Given the description of an element on the screen output the (x, y) to click on. 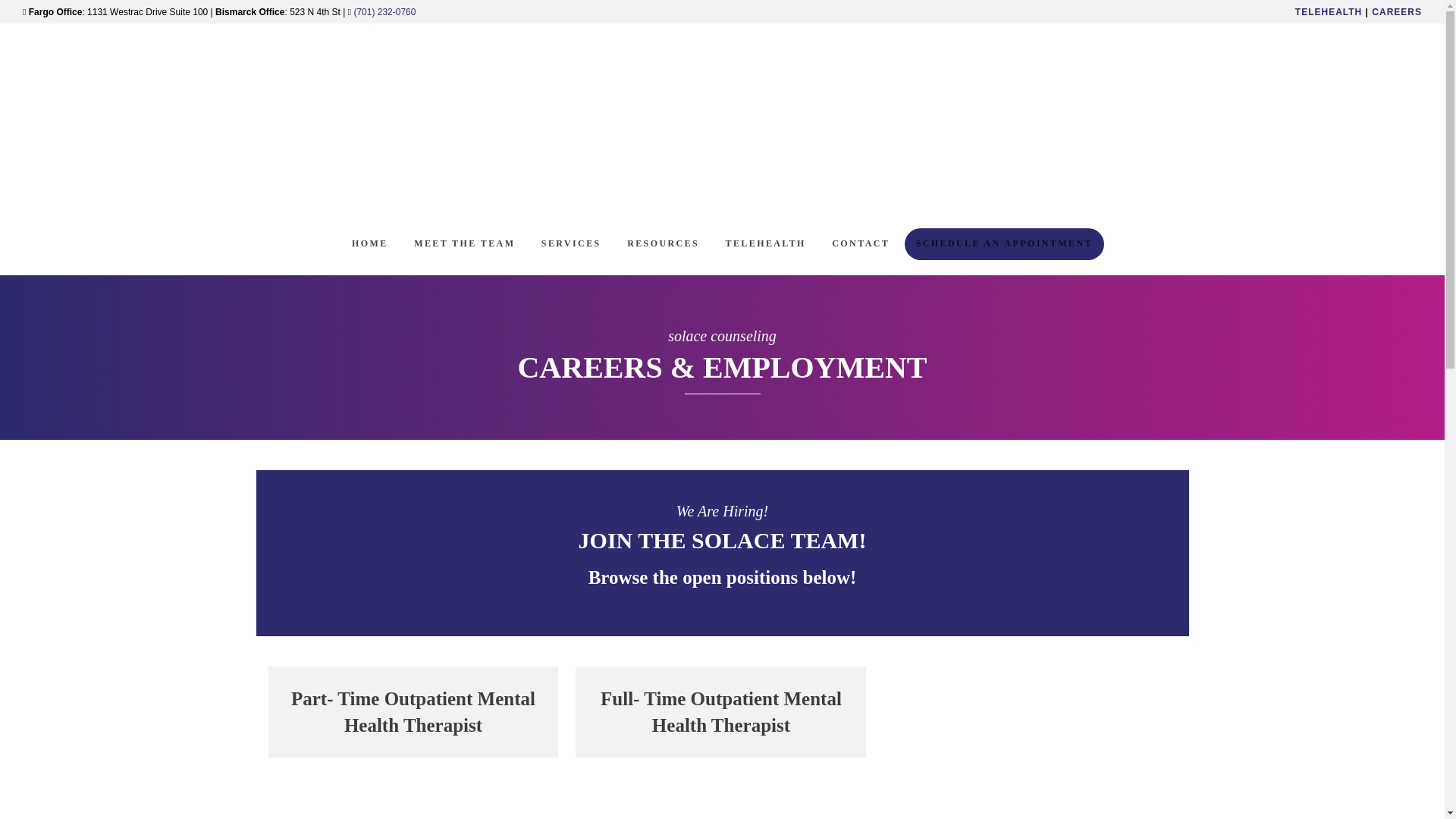
HOME (369, 244)
TELEHEALTH (1328, 11)
CAREERS (1396, 11)
SERVICES (570, 244)
RESOURCES (662, 244)
Part- Time Outpatient Mental Health Therapist (413, 711)
Full- Time Outpatient Mental Health Therapist (720, 711)
TELEHEALTH (765, 244)
MEET THE TEAM (464, 244)
CONTACT (861, 244)
